Given the description of an element on the screen output the (x, y) to click on. 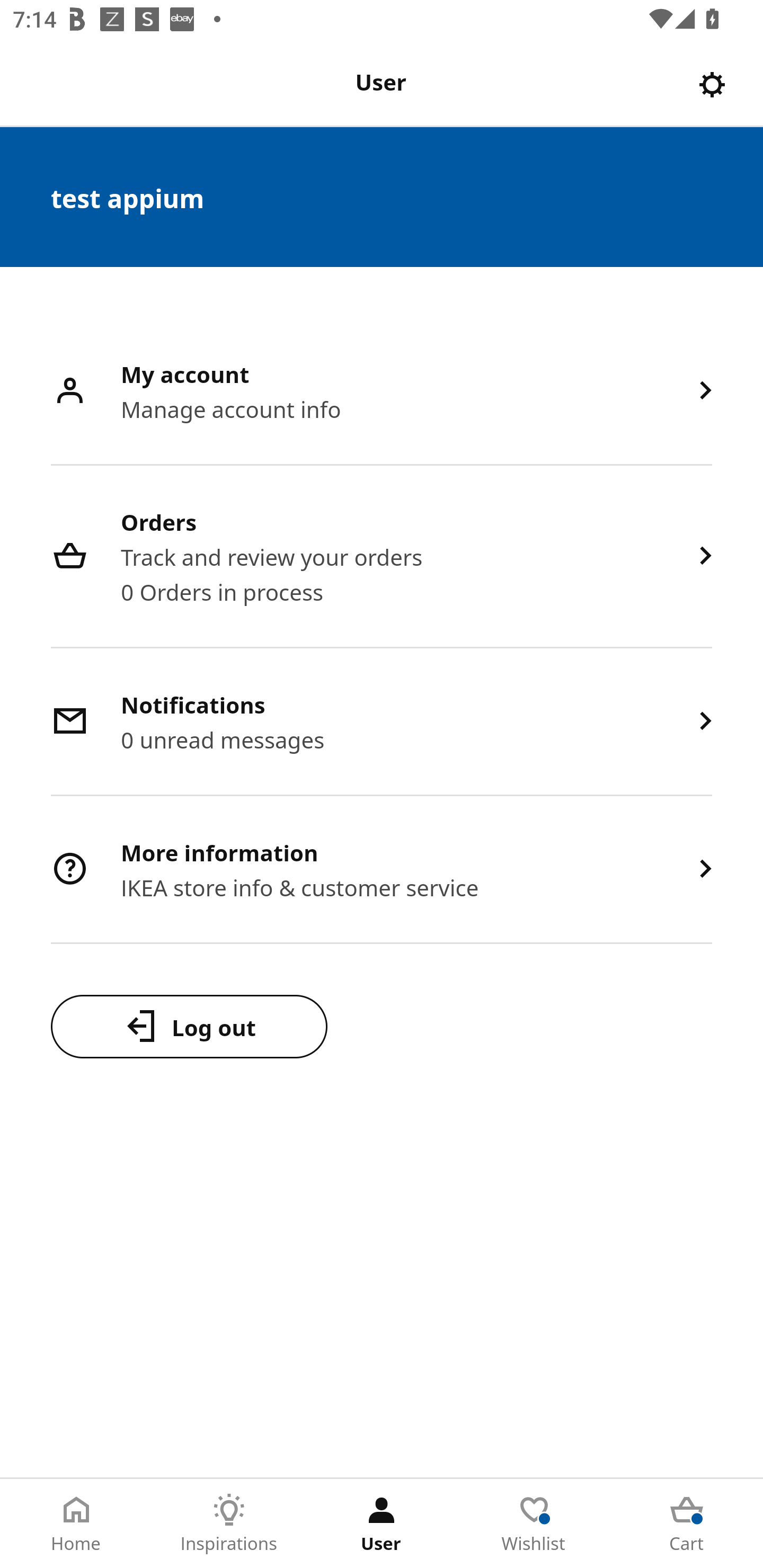
My account
Manage account info (381, 391)
Notifications
0 unread messages (381, 722)
Log out (189, 1026)
Home
Tab 1 of 5 (76, 1522)
Inspirations
Tab 2 of 5 (228, 1522)
User
Tab 3 of 5 (381, 1522)
Wishlist
Tab 4 of 5 (533, 1522)
Cart
Tab 5 of 5 (686, 1522)
